Given the description of an element on the screen output the (x, y) to click on. 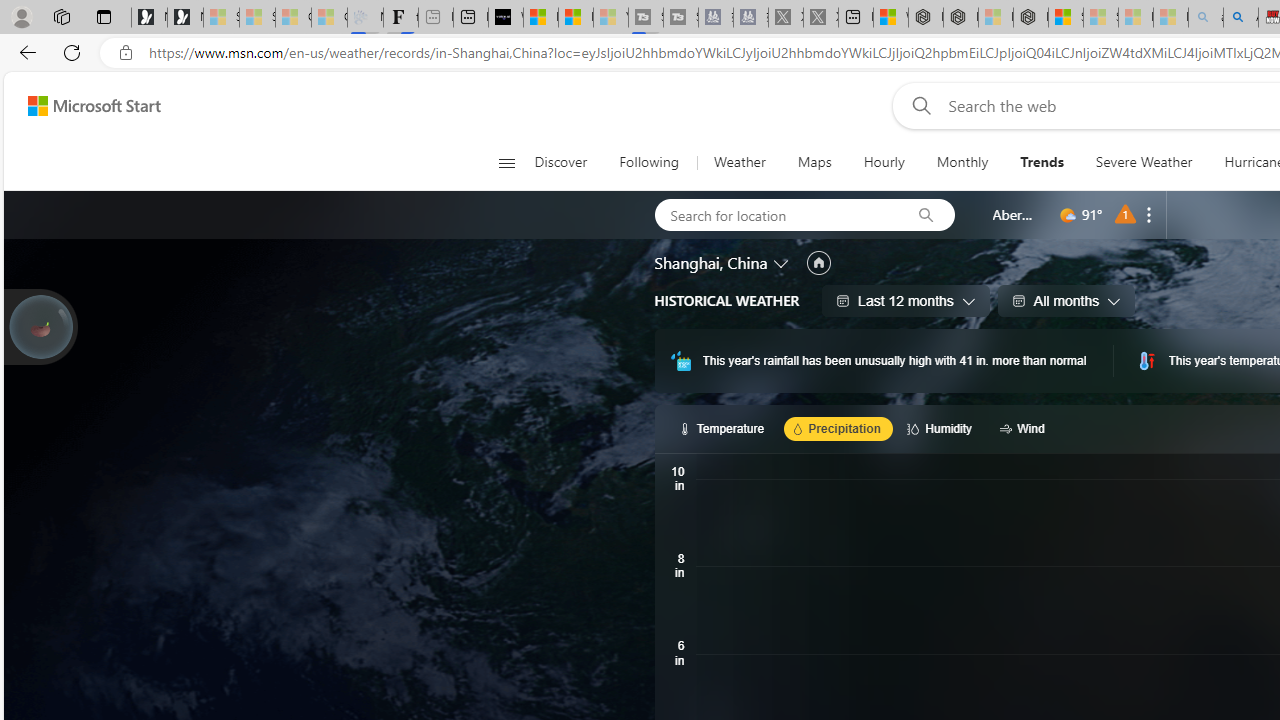
Search for location (776, 214)
Precipitation (838, 428)
Class: button-glyph (505, 162)
Aberdeen (1014, 214)
Wind (1025, 428)
Join us in planting real trees to help our planet! (40, 327)
